Given the description of an element on the screen output the (x, y) to click on. 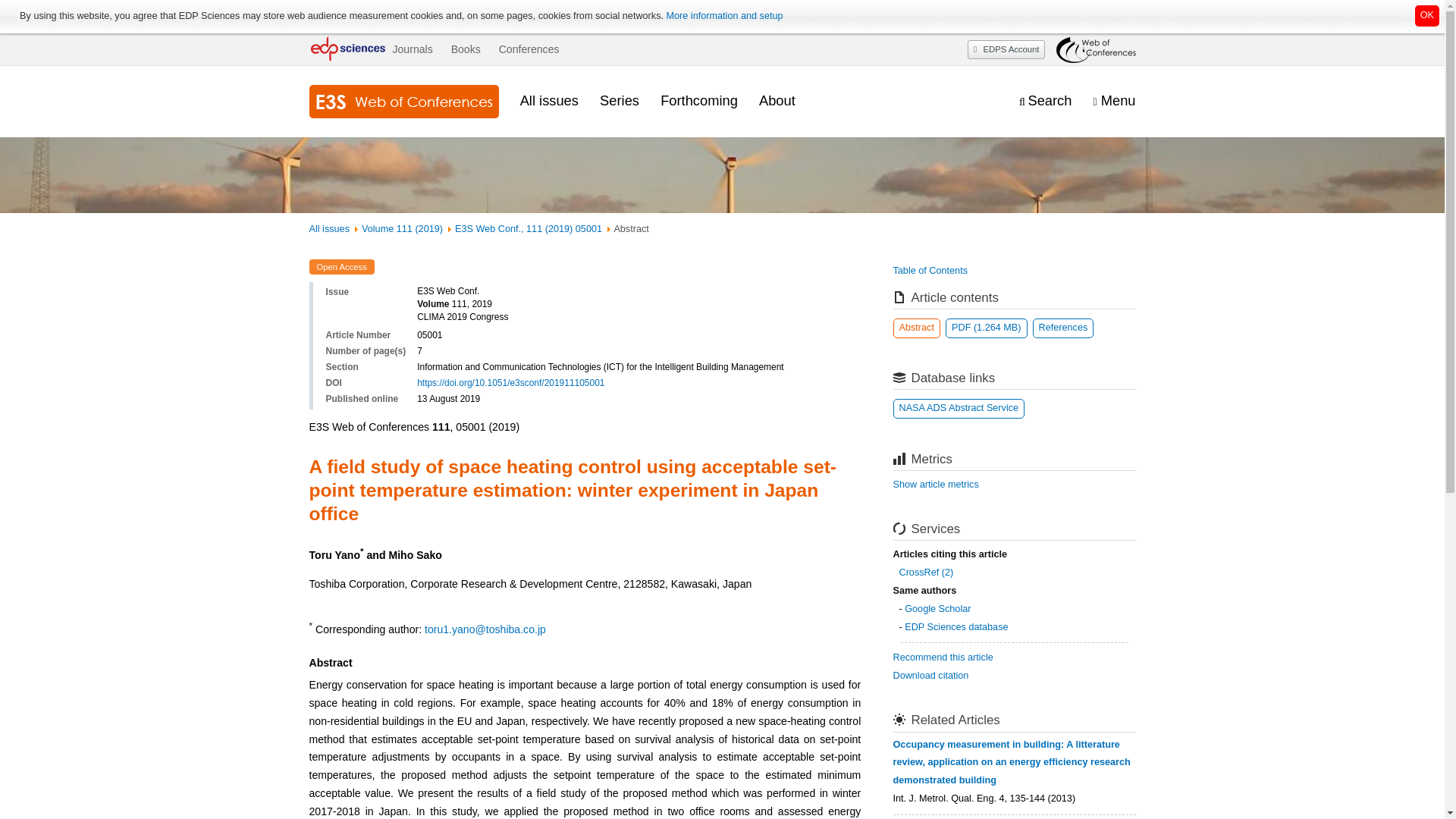
More information and setup (724, 15)
OK (1427, 15)
Books (465, 49)
Conferences (529, 49)
Journal homepage (403, 101)
Click to close this notification (1427, 15)
Abstract (916, 328)
Display the search engine (1045, 101)
Journals (411, 49)
